Given the description of an element on the screen output the (x, y) to click on. 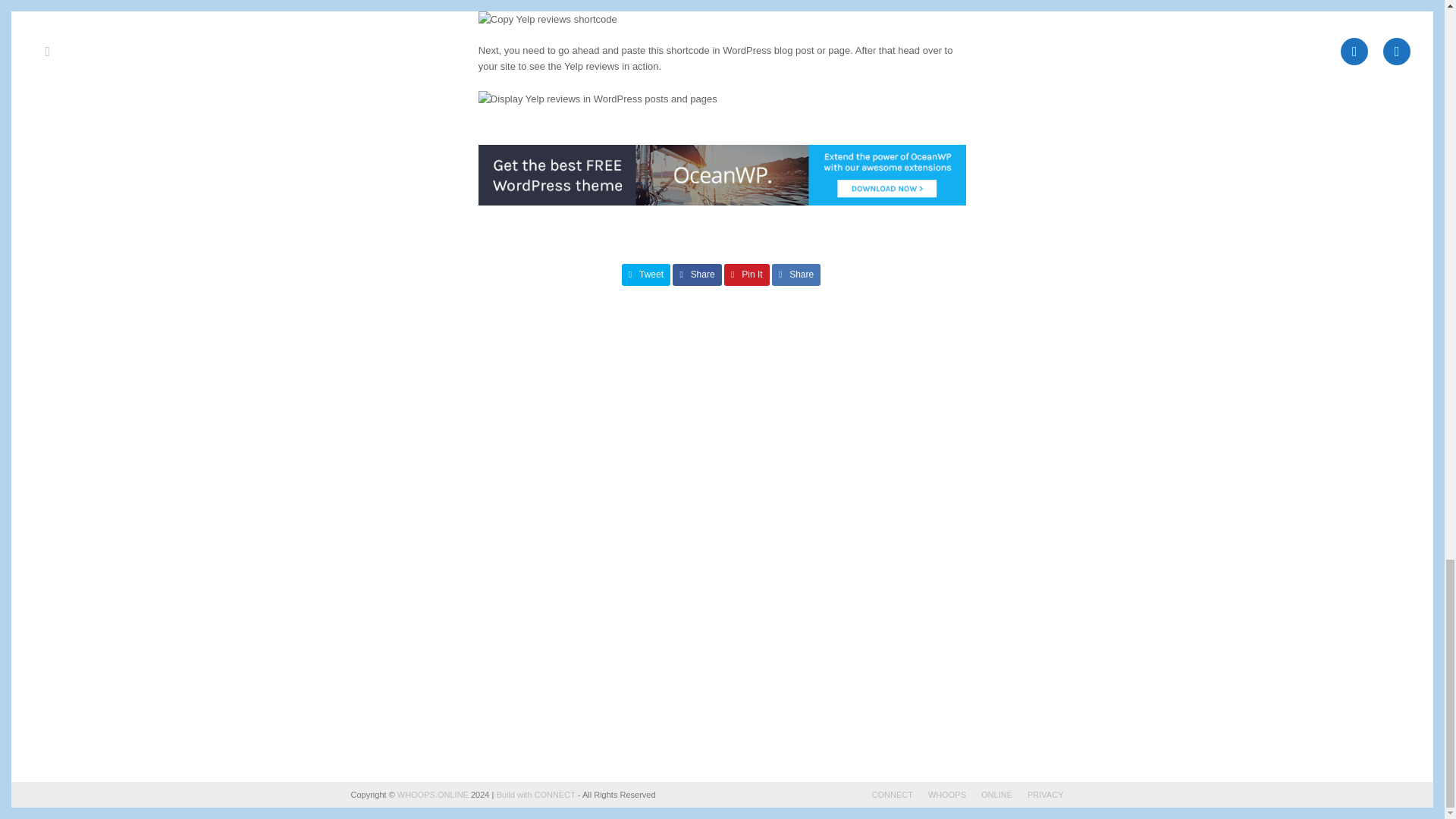
Share (796, 274)
Share (697, 274)
Pin It (746, 274)
CONNECT (892, 794)
WHOOPS (947, 794)
Build with CONNECT (535, 794)
ONLINE (996, 794)
PRIVACY (1044, 794)
Tweet (646, 274)
WHOOPS.ONLINE (432, 794)
